Given the description of an element on the screen output the (x, y) to click on. 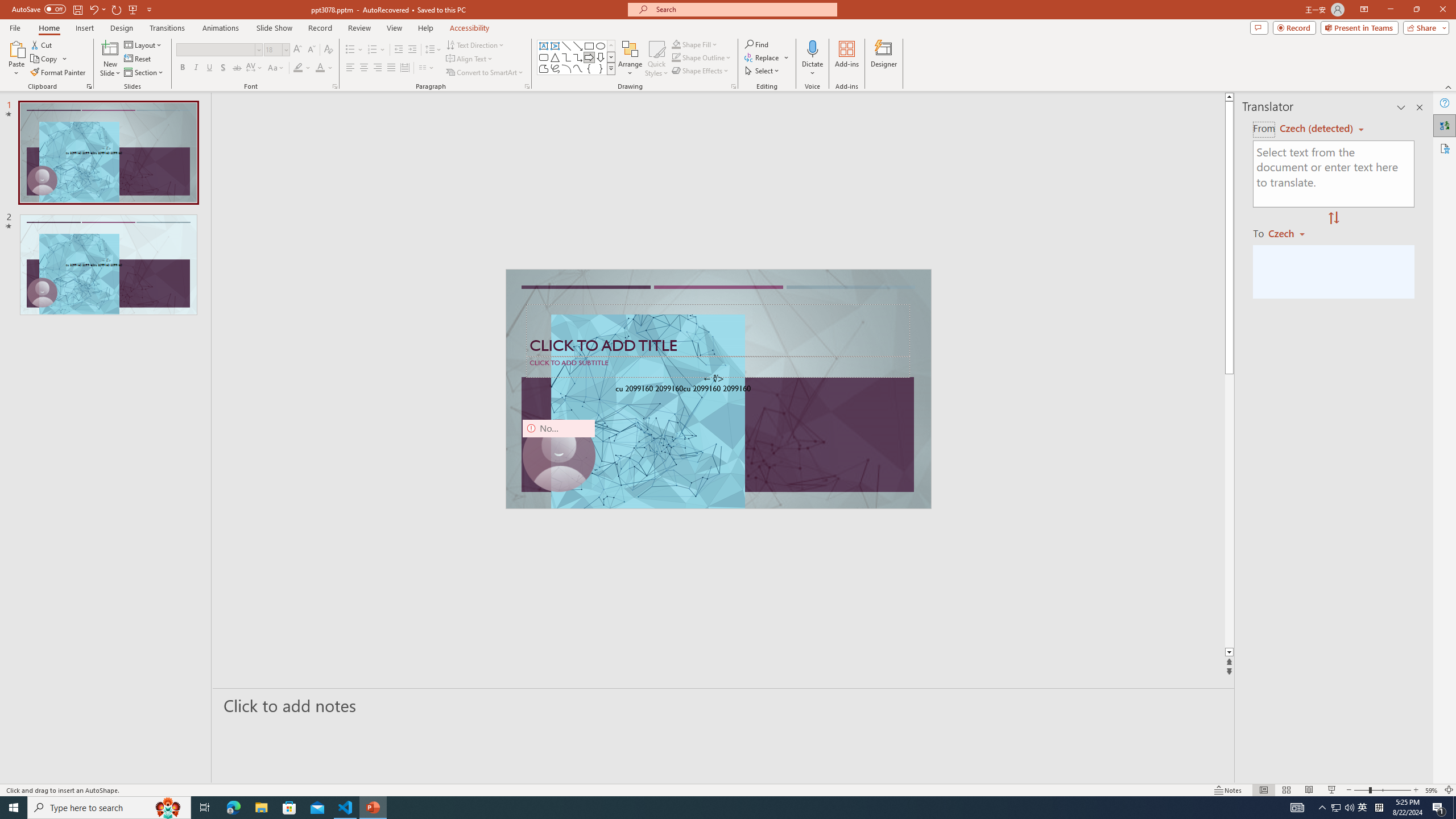
Shape Outline Green, Accent 1 (675, 56)
